Given the description of an element on the screen output the (x, y) to click on. 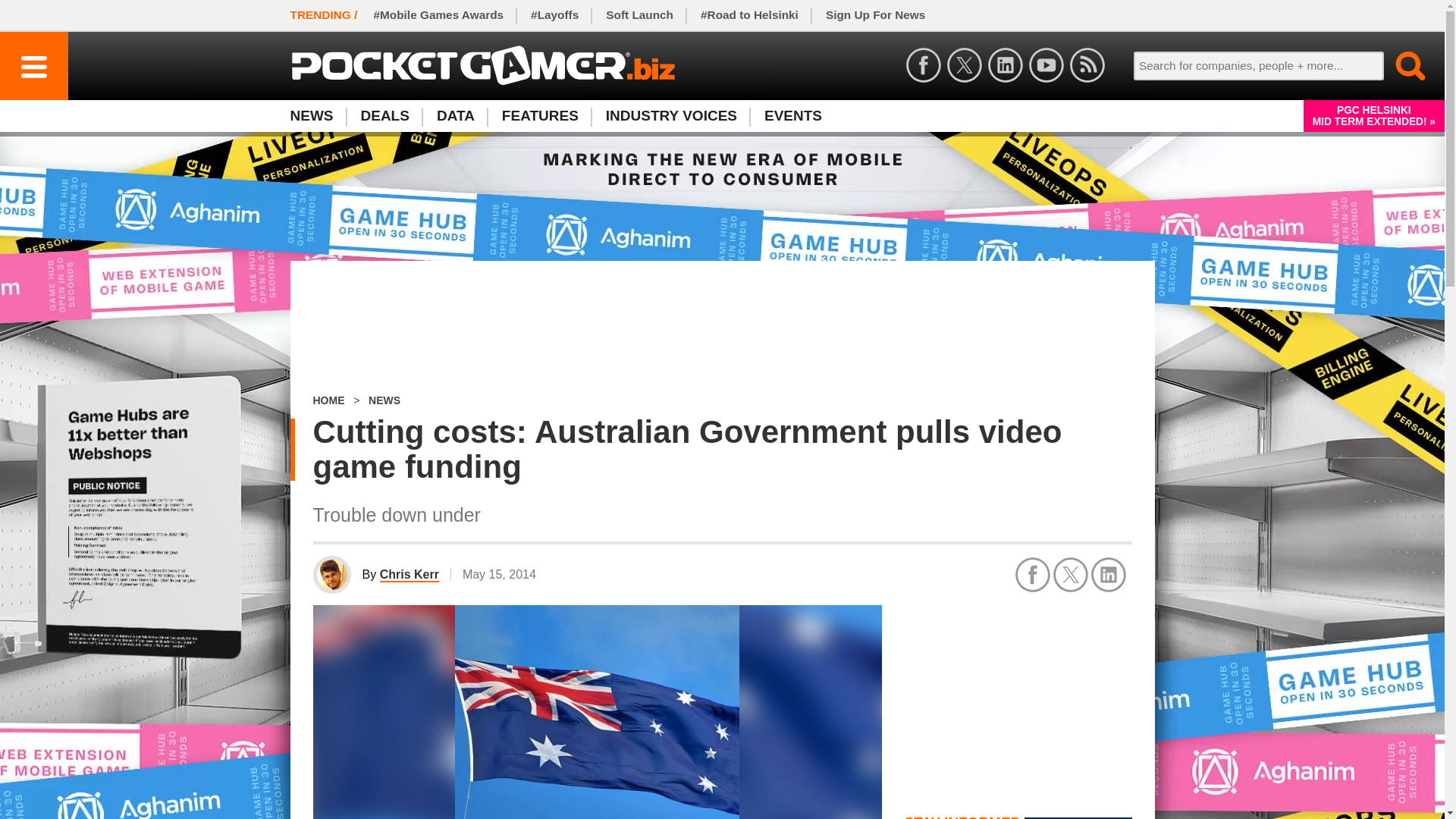
NEWS (384, 400)
DATA (455, 115)
EVENTS (793, 115)
Go (1402, 65)
DEALS (385, 115)
Go (1402, 65)
Sign Up For News (875, 15)
FEATURES (539, 115)
NEWS (317, 115)
INDUSTRY VOICES (671, 115)
